Given the description of an element on the screen output the (x, y) to click on. 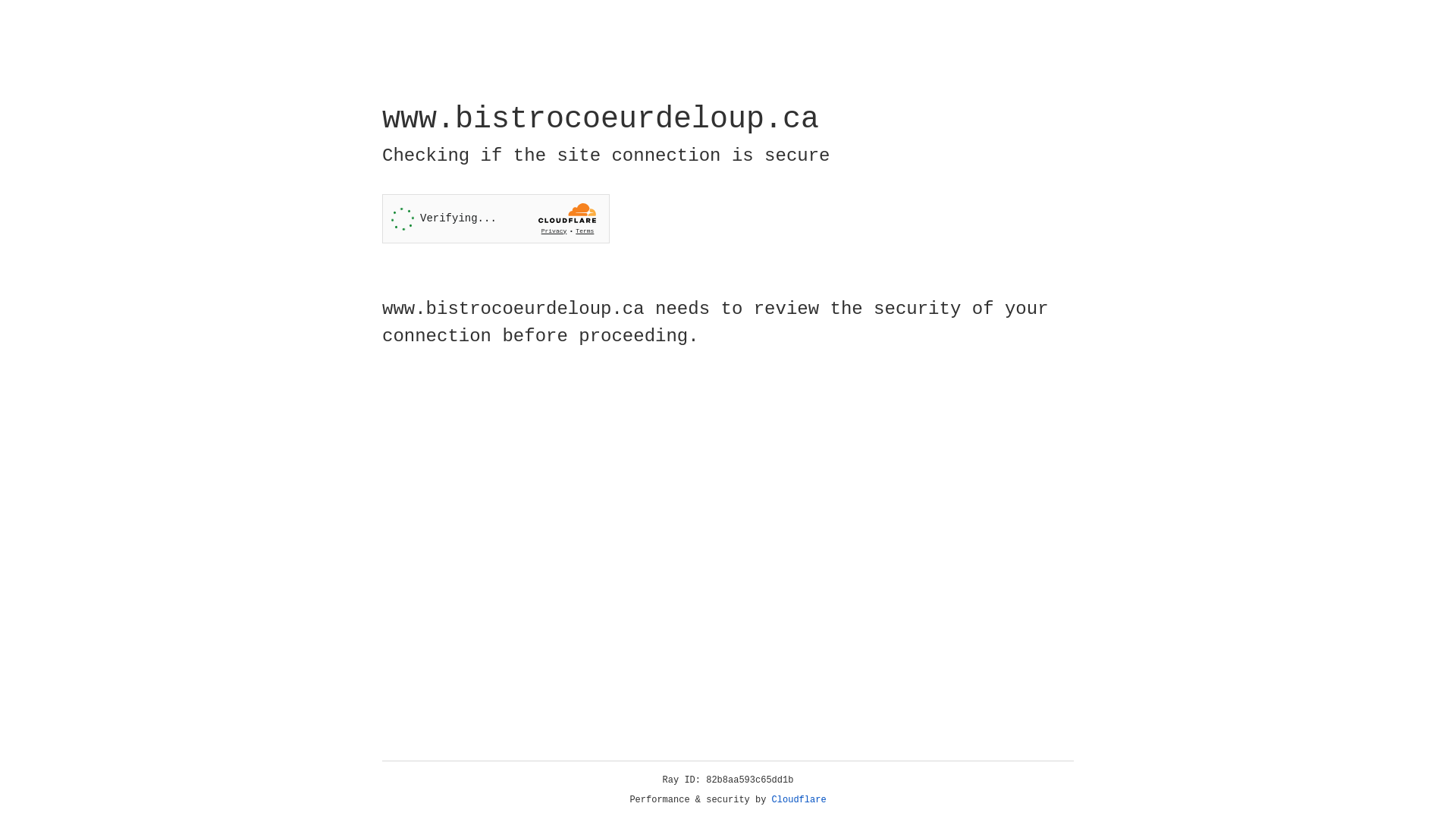
Widget containing a Cloudflare security challenge Element type: hover (495, 218)
Cloudflare Element type: text (798, 799)
